Given the description of an element on the screen output the (x, y) to click on. 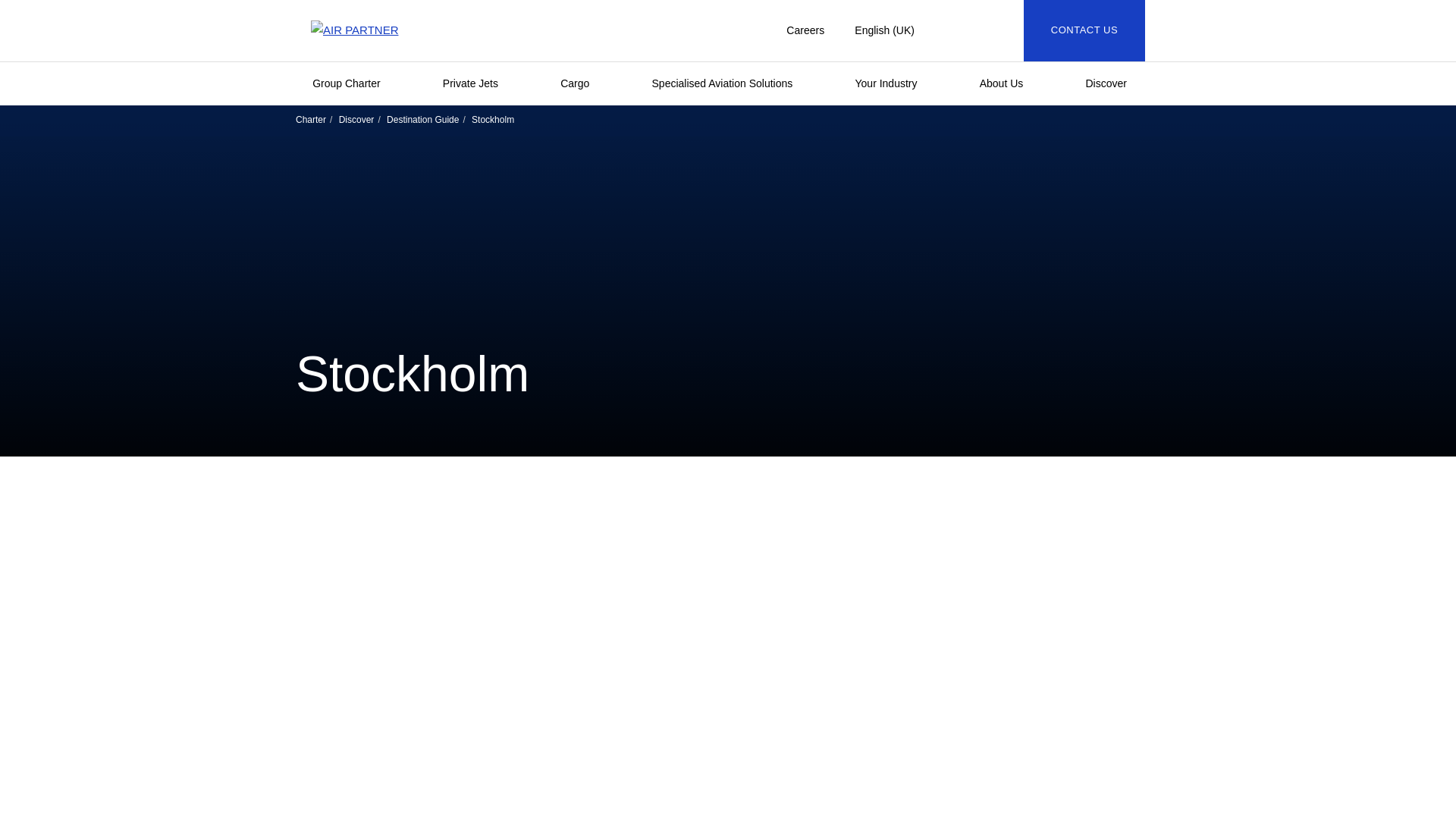
Specialised Aviation Solutions (729, 83)
Private Jets (478, 83)
Cargo (583, 83)
Careers (805, 30)
CONTACT US (1083, 30)
Your Industry (894, 83)
Group Charter (354, 83)
Search (978, 29)
